Given the description of an element on the screen output the (x, y) to click on. 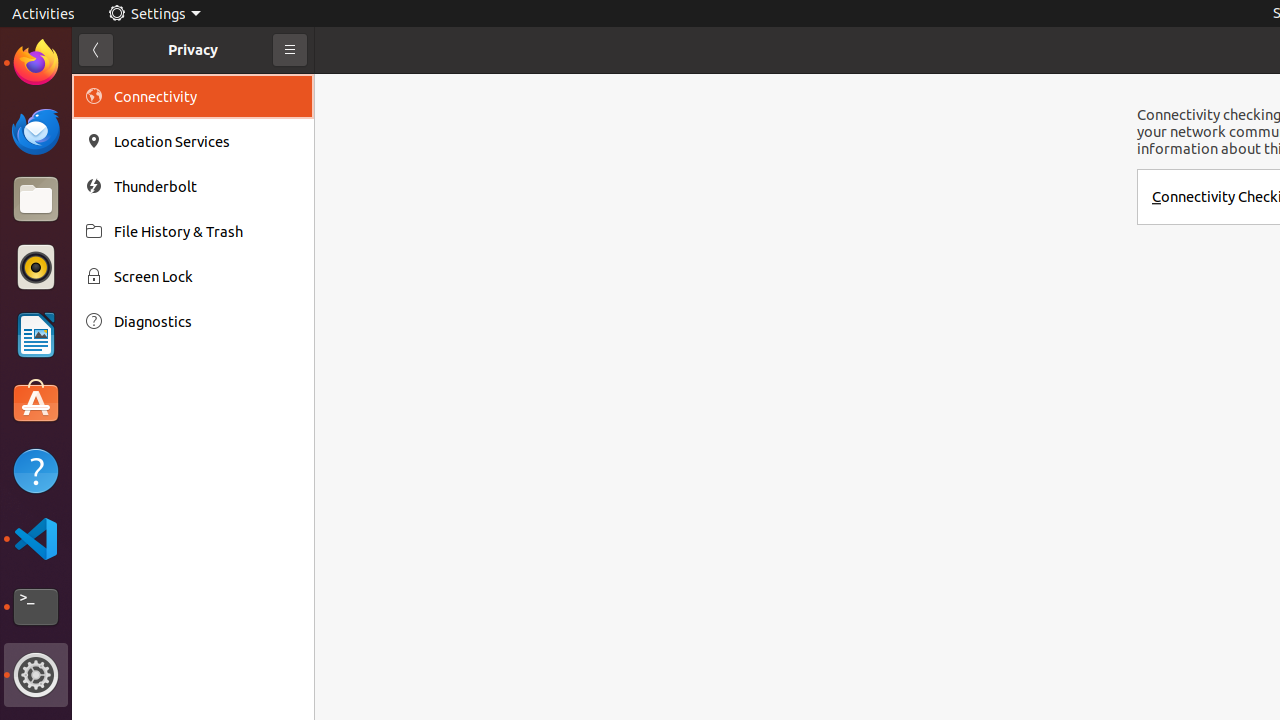
Screen Lock Element type: label (207, 276)
Location Services Element type: label (207, 141)
Diagnostics Element type: label (207, 321)
